Given the description of an element on the screen output the (x, y) to click on. 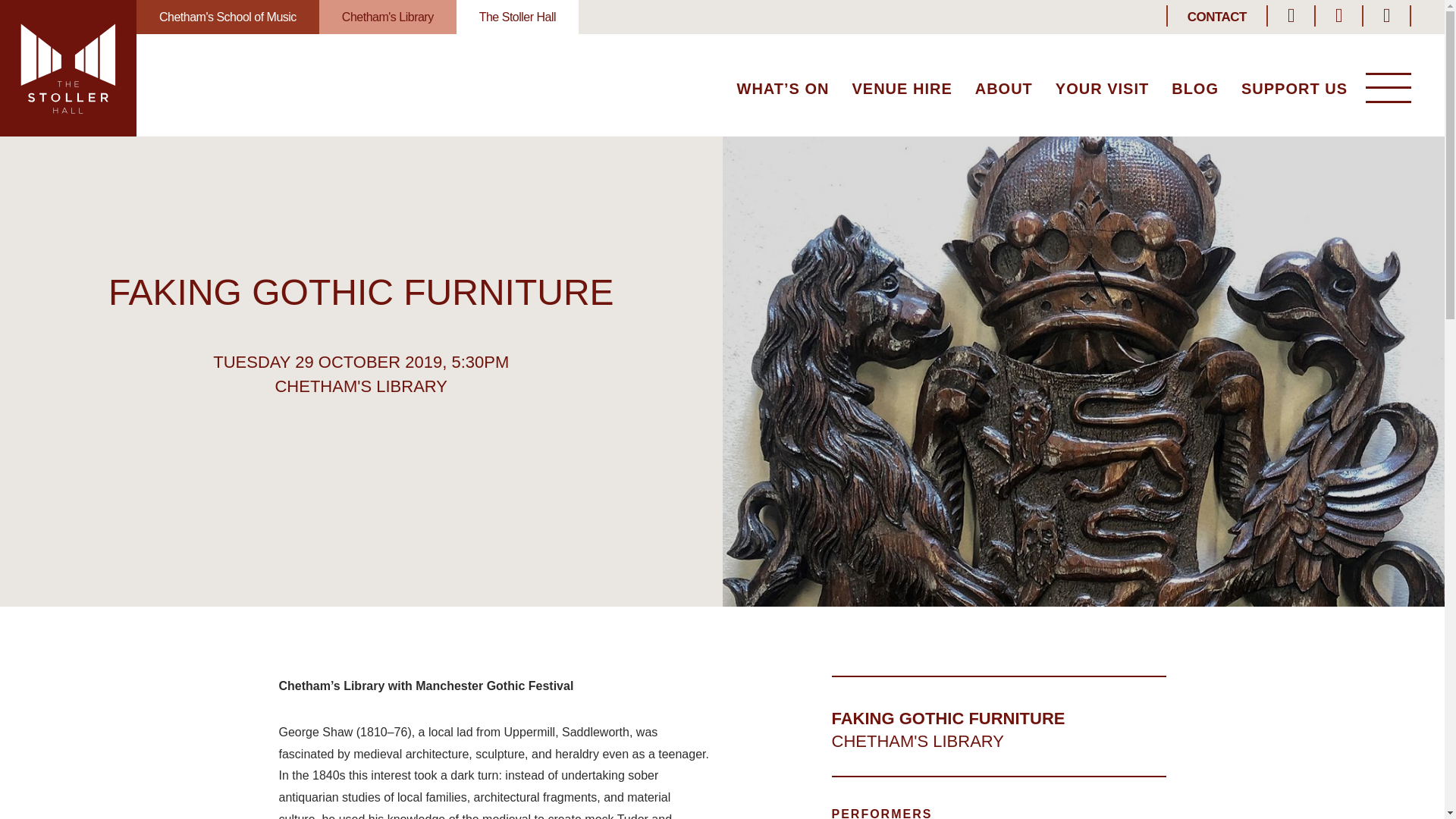
The Stoller Hall (517, 16)
THE STOLLER HALL (68, 68)
CONTACT (1217, 16)
VENUE HIRE (901, 90)
ABOUT (1003, 90)
Chetham's School of Music (227, 16)
YOUR VISIT (1101, 90)
Chetham's Library (387, 16)
